Given the description of an element on the screen output the (x, y) to click on. 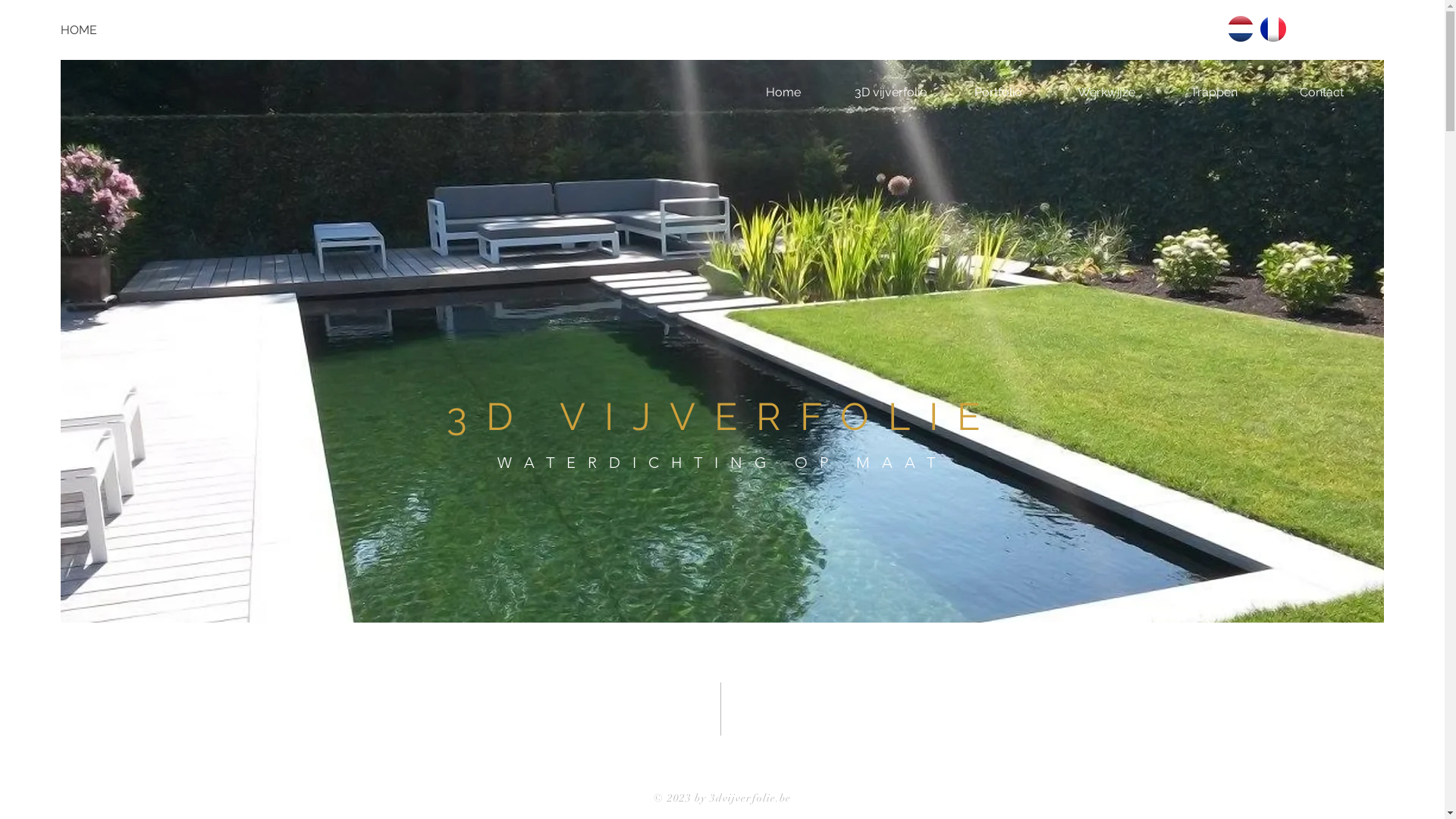
Trappen Element type: text (1213, 92)
3dvijverfolie.be Element type: text (750, 797)
Werkwijze Element type: text (1106, 92)
Portfolio Element type: text (998, 92)
HOME Element type: text (109, 30)
3D vijverfolie Element type: text (890, 92)
Contact Element type: text (1321, 92)
Home Element type: text (783, 92)
